Given the description of an element on the screen output the (x, y) to click on. 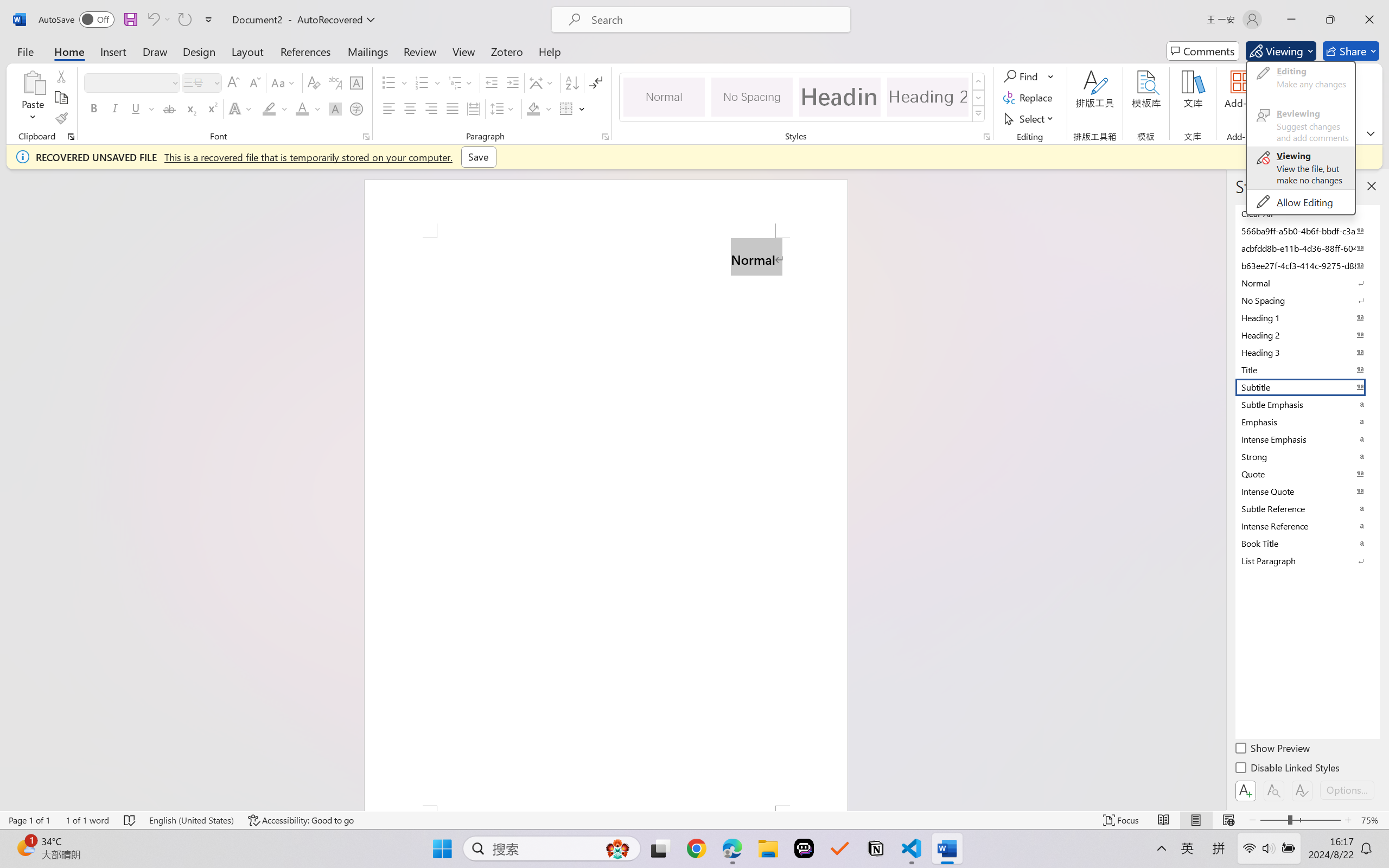
AutomationID: QuickStylesGallery (802, 97)
Can't Repeat (184, 19)
Ribbon Display Options (1370, 132)
Strikethrough (169, 108)
Subtle Emphasis (1306, 404)
Shading (539, 108)
Heading 1 (839, 96)
Text Effects and Typography (241, 108)
